Given the description of an element on the screen output the (x, y) to click on. 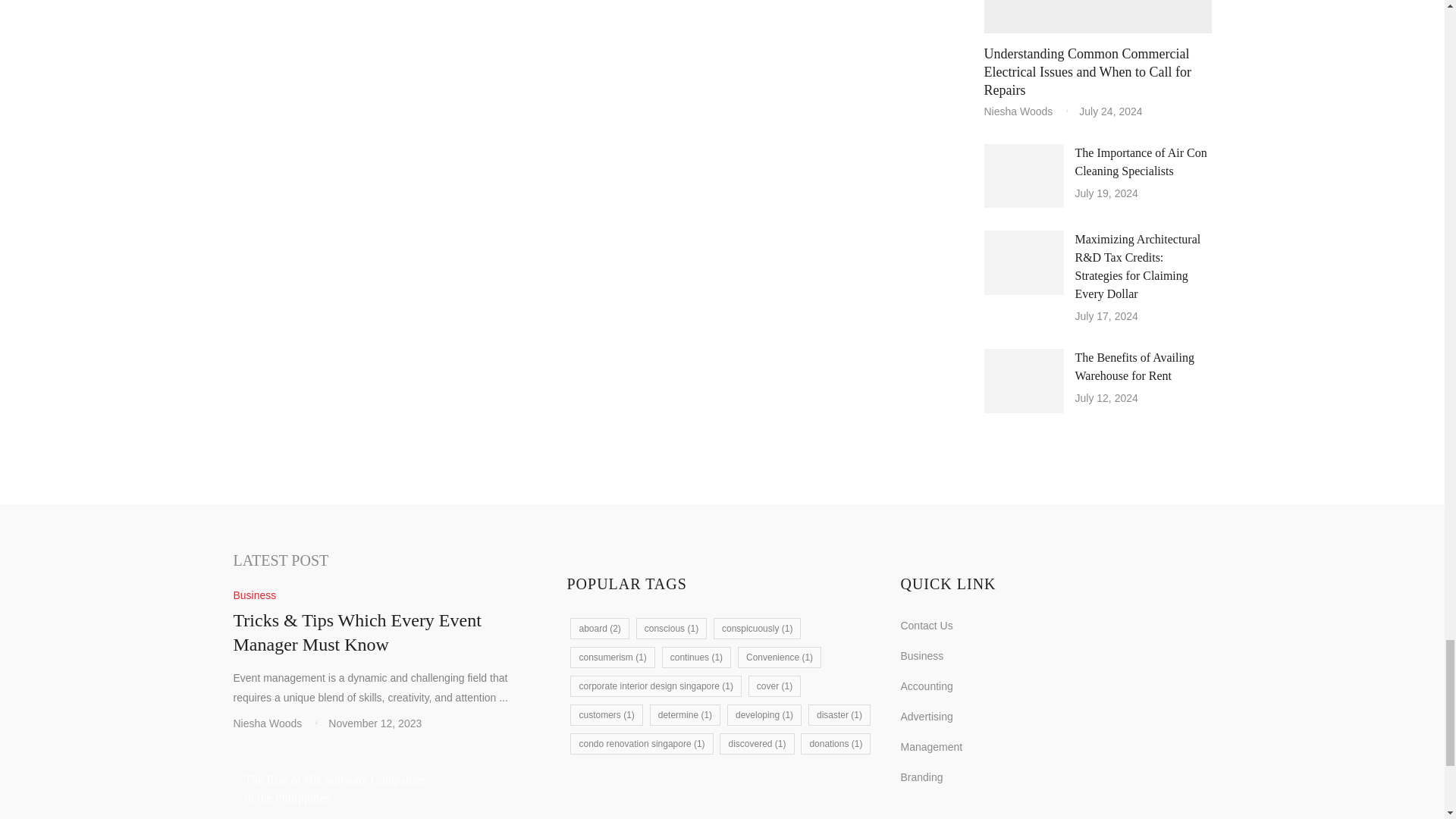
View all posts in Business (254, 594)
